Given the description of an element on the screen output the (x, y) to click on. 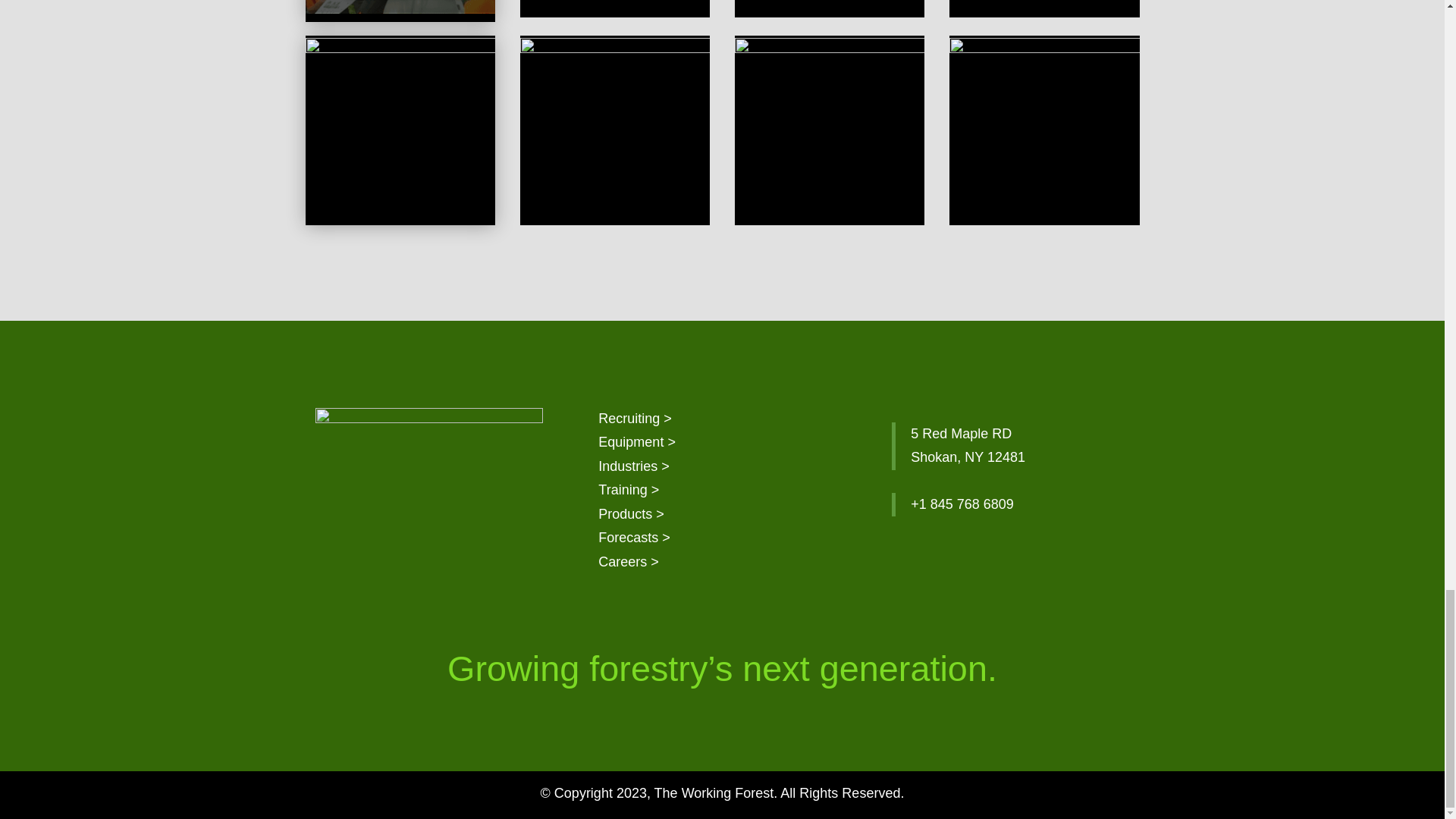
Career Information (628, 560)
Training Information (628, 489)
Products (630, 513)
Recruiting Information (634, 418)
Equipment Information (636, 441)
Forcasts (633, 537)
Industries (633, 465)
